Given the description of an element on the screen output the (x, y) to click on. 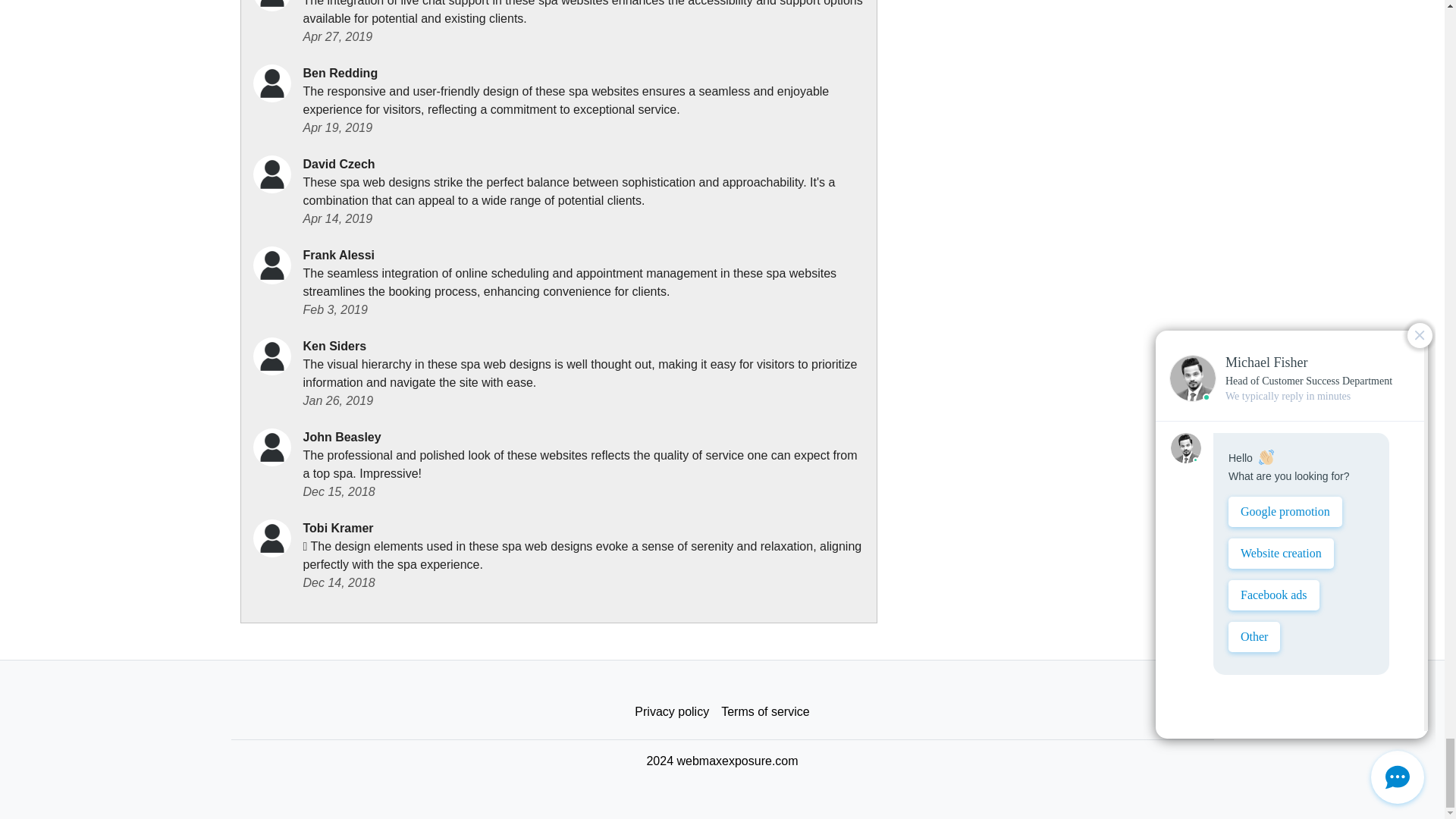
Terms of service (764, 711)
Privacy policy (671, 711)
